Given the description of an element on the screen output the (x, y) to click on. 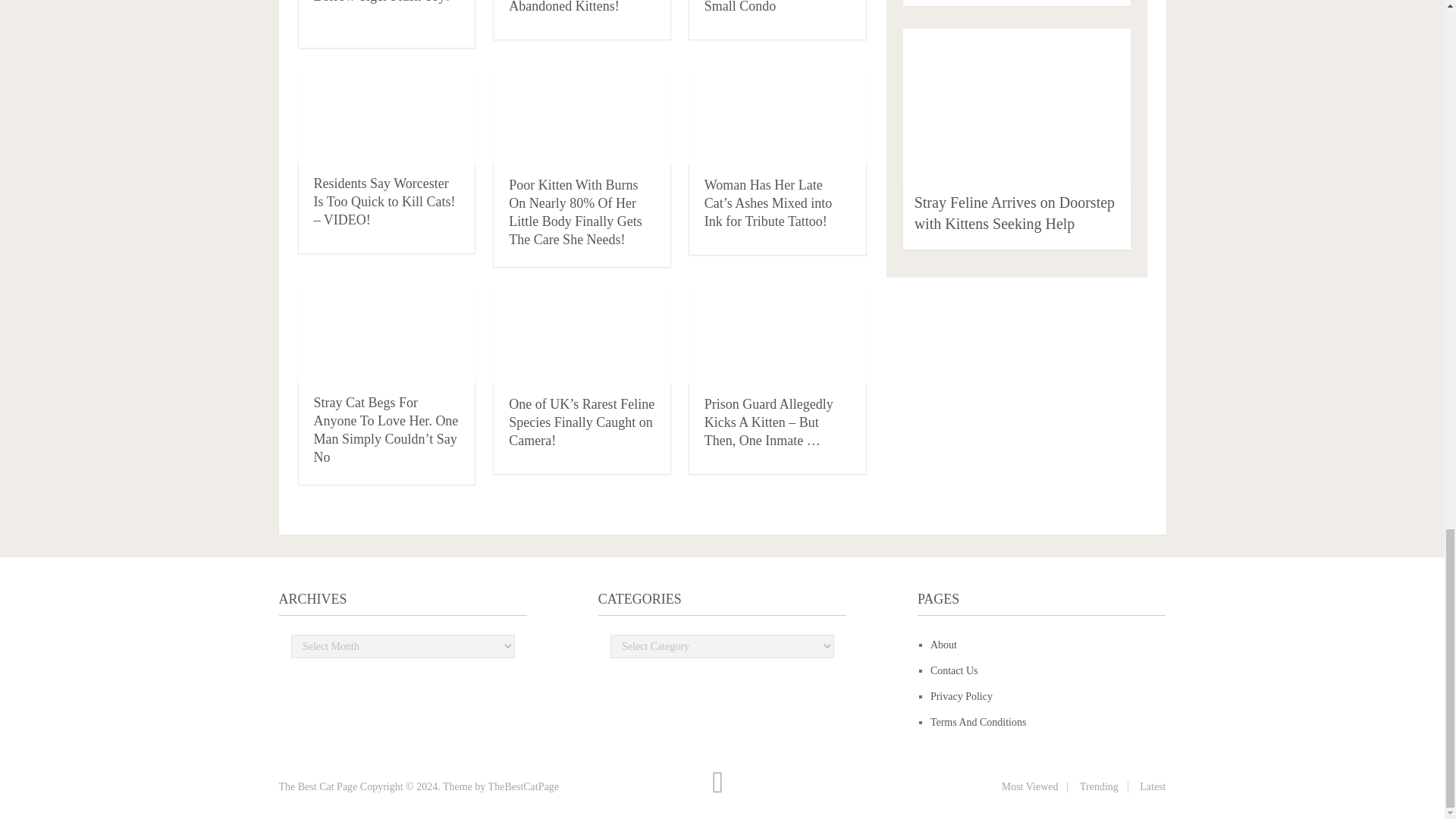
Cat Visits Neighbour to Borrow Tiger Plush Toy! (381, 2)
New Jersey Couple Hoards 100 Cats Inside Small Condo (767, 6)
New Jersey Couple Hoards 100 Cats Inside Small Condo (767, 6)
Cat Visits Neighbour to Borrow Tiger Plush Toy! (381, 2)
